Given the description of an element on the screen output the (x, y) to click on. 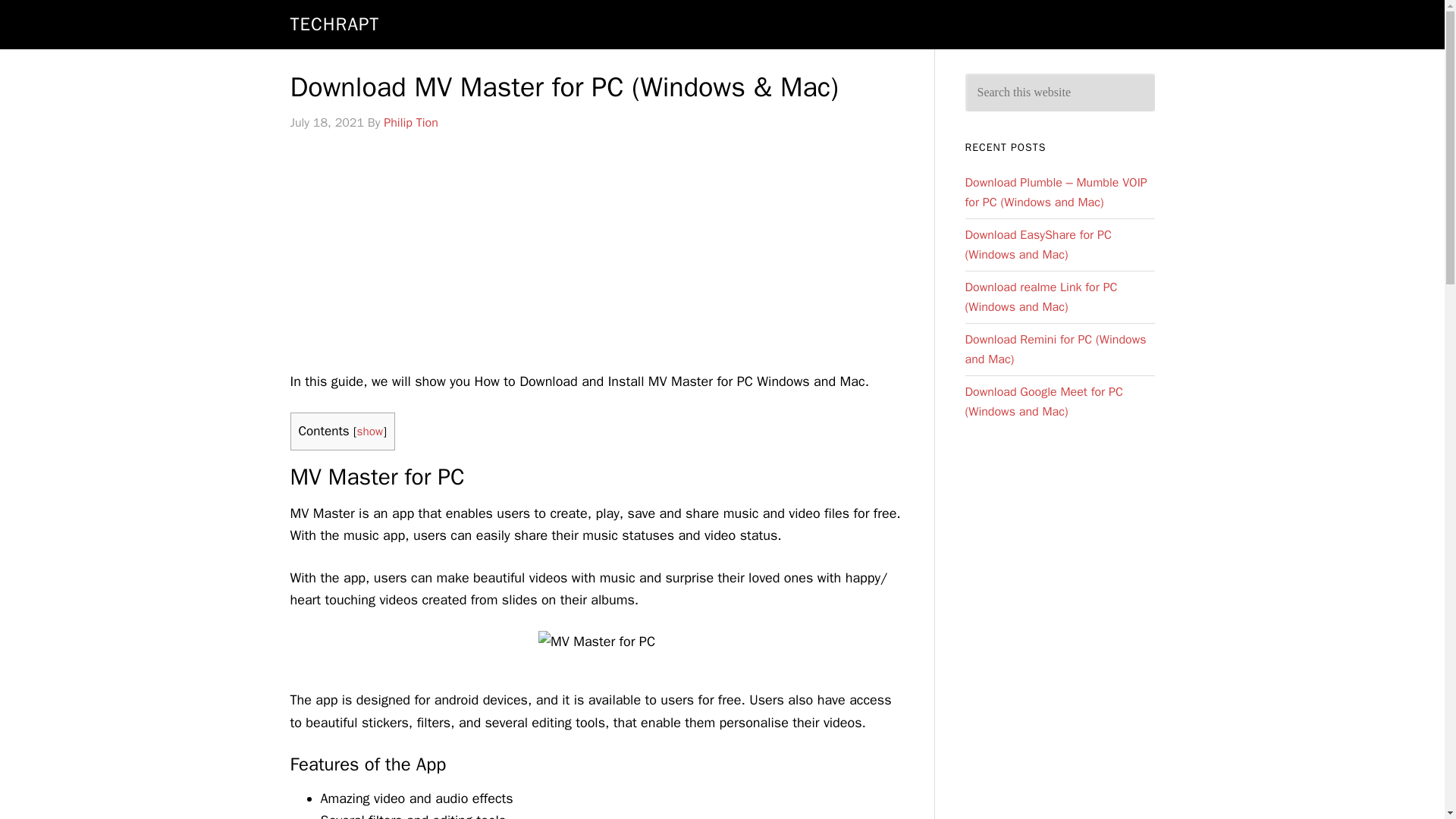
Advertisement (595, 256)
Philip Tion (411, 122)
show (369, 431)
TECHRAPT (333, 24)
